Given the description of an element on the screen output the (x, y) to click on. 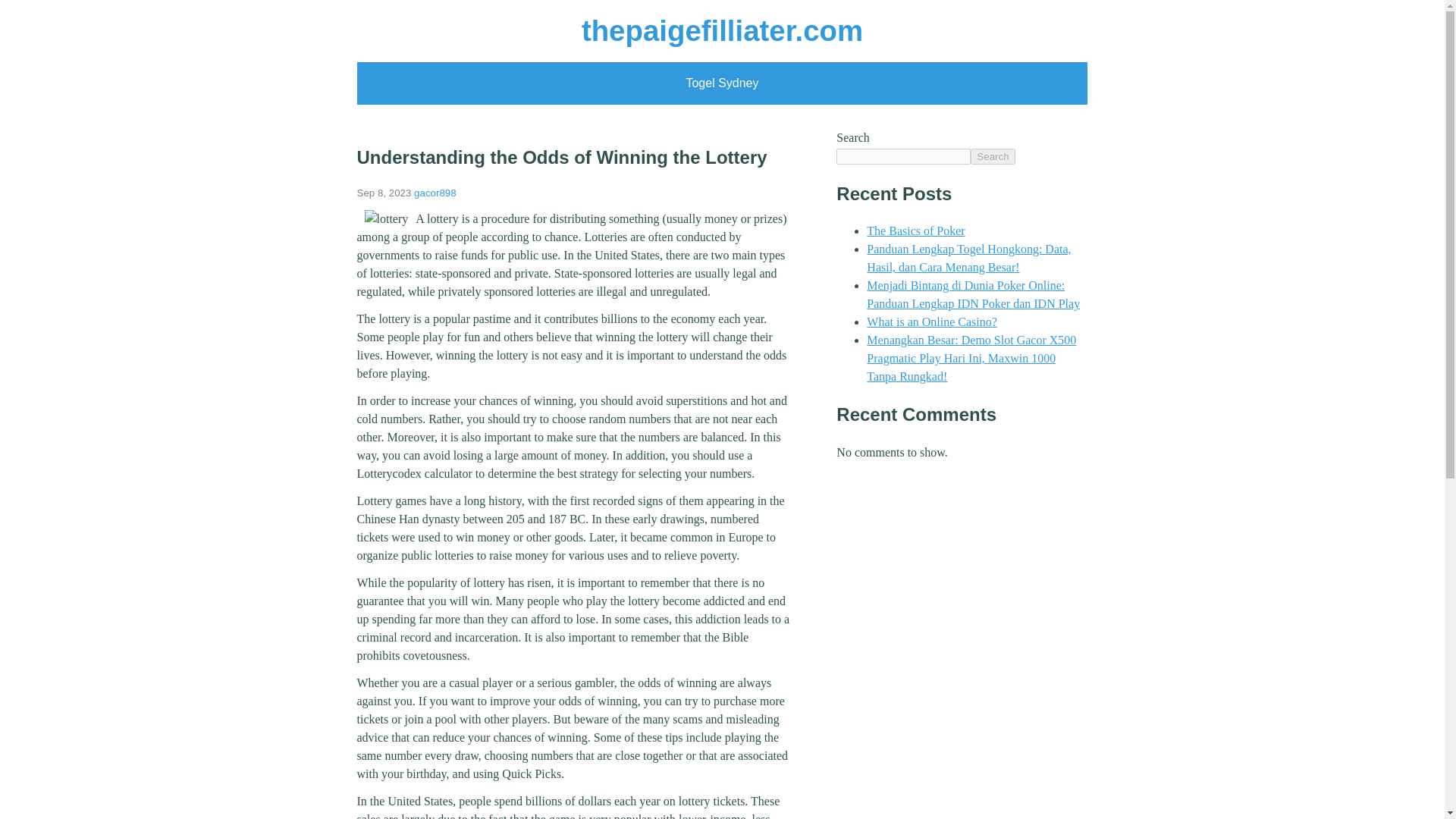
gacor898 (435, 193)
Togel Sydney (721, 82)
thepaigefilliater.com (721, 30)
What is an Online Casino? (931, 321)
The Basics of Poker (914, 230)
Search (992, 156)
